Given the description of an element on the screen output the (x, y) to click on. 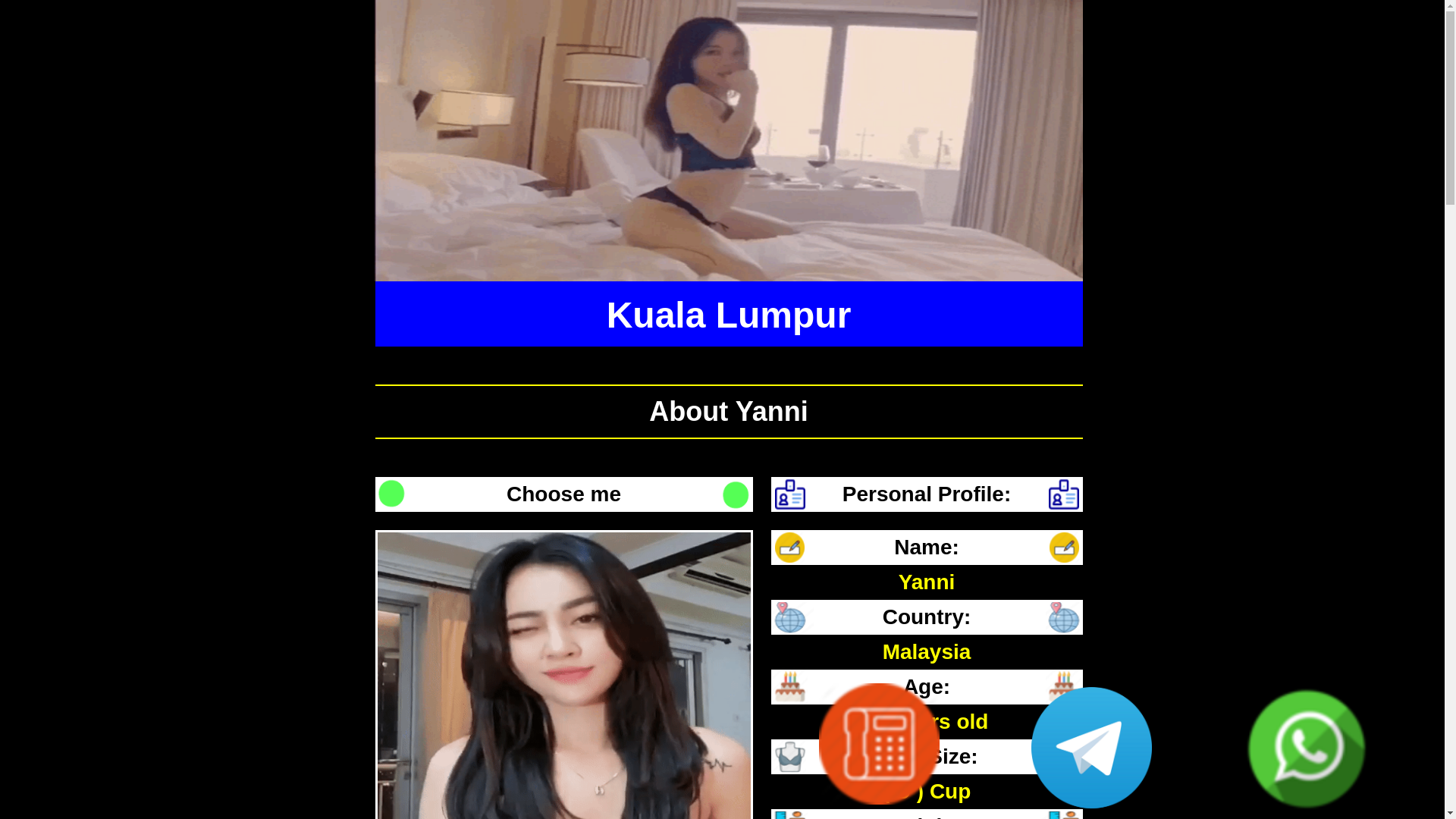
Kuala Lumpur Element type: text (728, 315)
Atlas Escorts Element type: text (913, 183)
Escorts Babes Element type: text (919, 220)
